Given the description of an element on the screen output the (x, y) to click on. 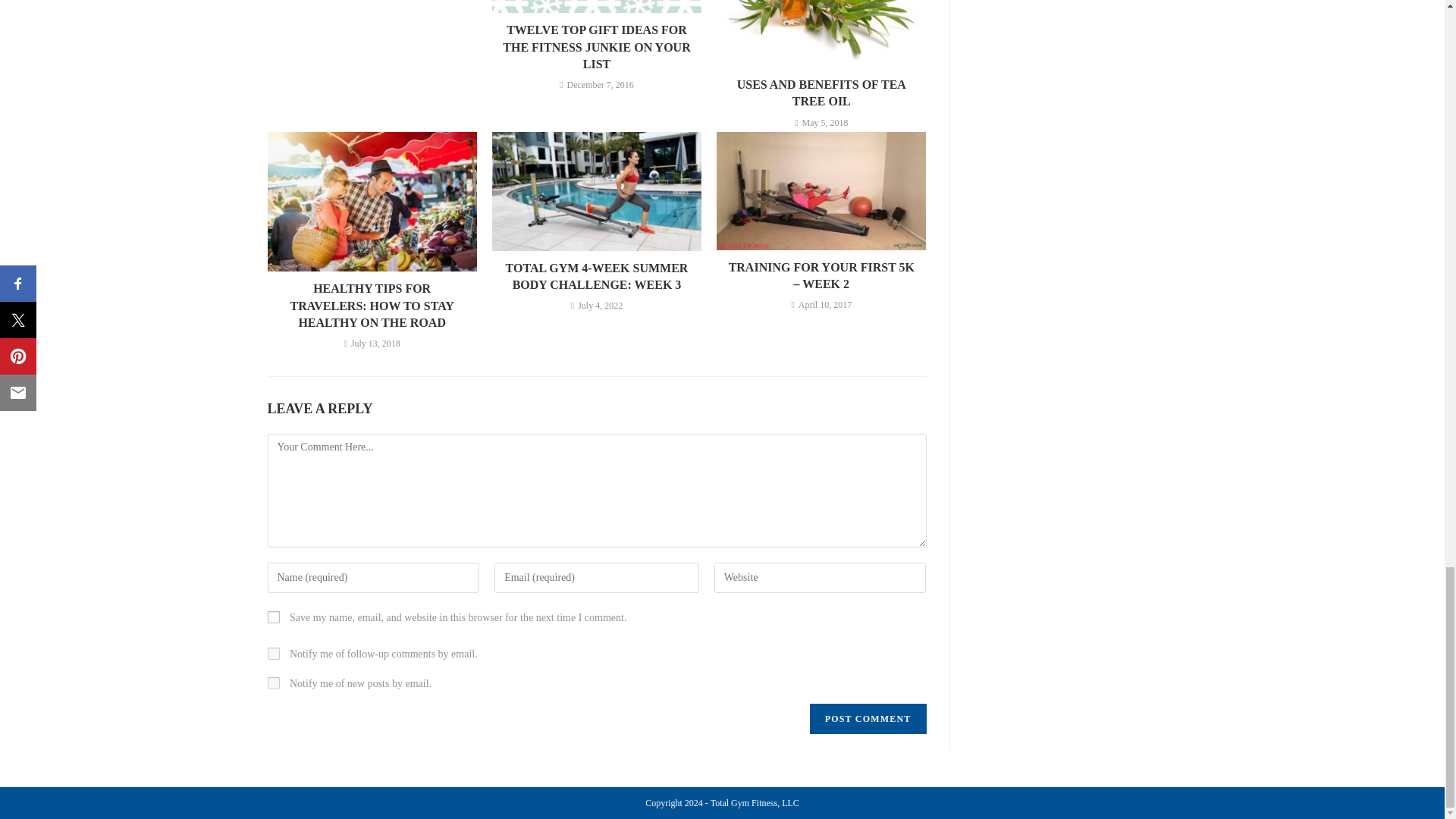
Healthy Tips for Travelers: How to Stay Healthy on the Road (371, 305)
Uses and Benefits of Tea Tree Oil (821, 93)
subscribe (272, 683)
Post Comment (867, 718)
USES AND BENEFITS OF TEA TREE OIL (821, 93)
yes (272, 616)
TOTAL GYM 4-WEEK SUMMER BODY CHALLENGE: WEEK 3 (596, 277)
HEALTHY TIPS FOR TRAVELERS: HOW TO STAY HEALTHY ON THE ROAD (371, 305)
TOTAL GYM 4-WEEK SUMMER BODY CHALLENGE: WEEK 3 (596, 277)
Post Comment (867, 718)
subscribe (272, 653)
Twelve Top Gift Ideas for the Fitness Junkie on your List (596, 47)
TWELVE TOP GIFT IDEAS FOR THE FITNESS JUNKIE ON YOUR LIST (596, 47)
